Given the description of an element on the screen output the (x, y) to click on. 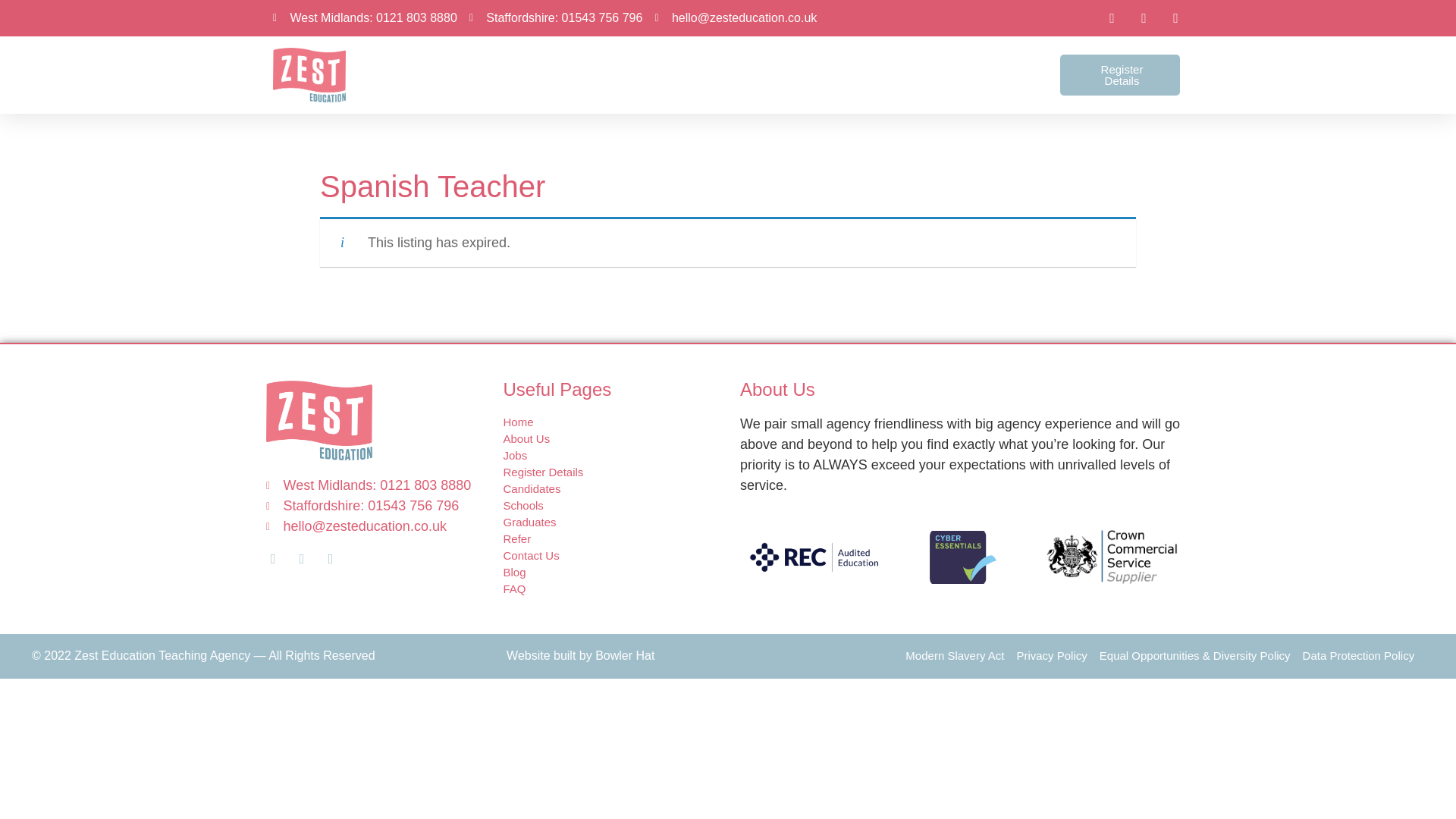
Staffordshire: 01543 756 796 (555, 18)
West Midlands: 0121 803 8880 (365, 18)
